Given the description of an element on the screen output the (x, y) to click on. 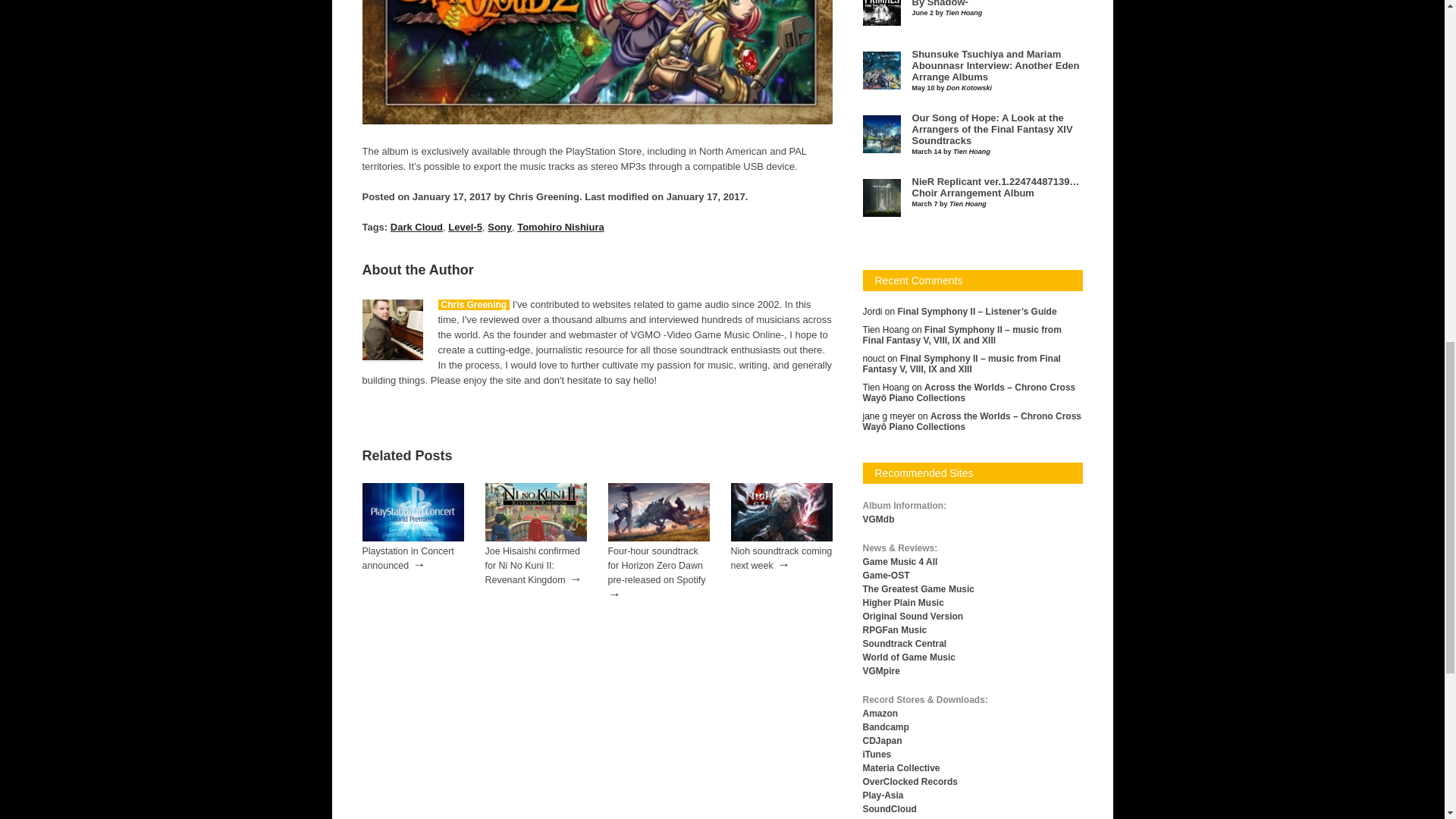
Level-5 (464, 226)
Dark Cloud (416, 226)
Sony (499, 226)
Tomohiro Nishiura (560, 226)
Nioh soundtrack coming next week (781, 538)
Playstation in Concert announced (408, 558)
Joe Hisaishi confirmed for Ni No Kuni II: Revenant Kingdom (535, 538)
Playstation in Concert announced (413, 538)
Chris Greening (474, 304)
Nioh soundtrack coming next week (781, 558)
Playstation in Concert announced (408, 558)
Joe Hisaishi confirmed for Ni No Kuni II: Revenant Kingdom (531, 565)
